Given the description of an element on the screen output the (x, y) to click on. 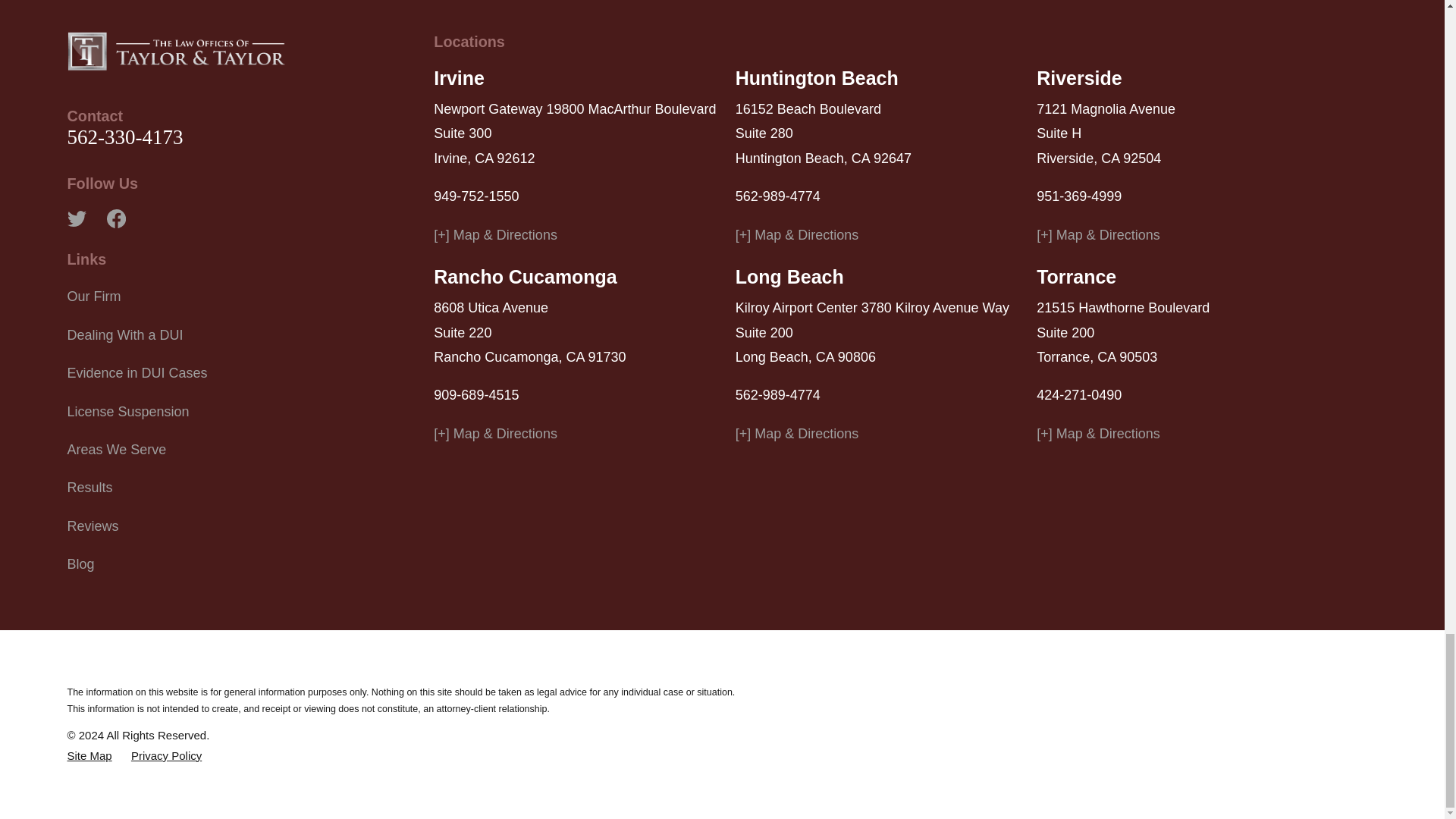
Home (175, 50)
Facebook (115, 218)
Twitter (75, 218)
